Given the description of an element on the screen output the (x, y) to click on. 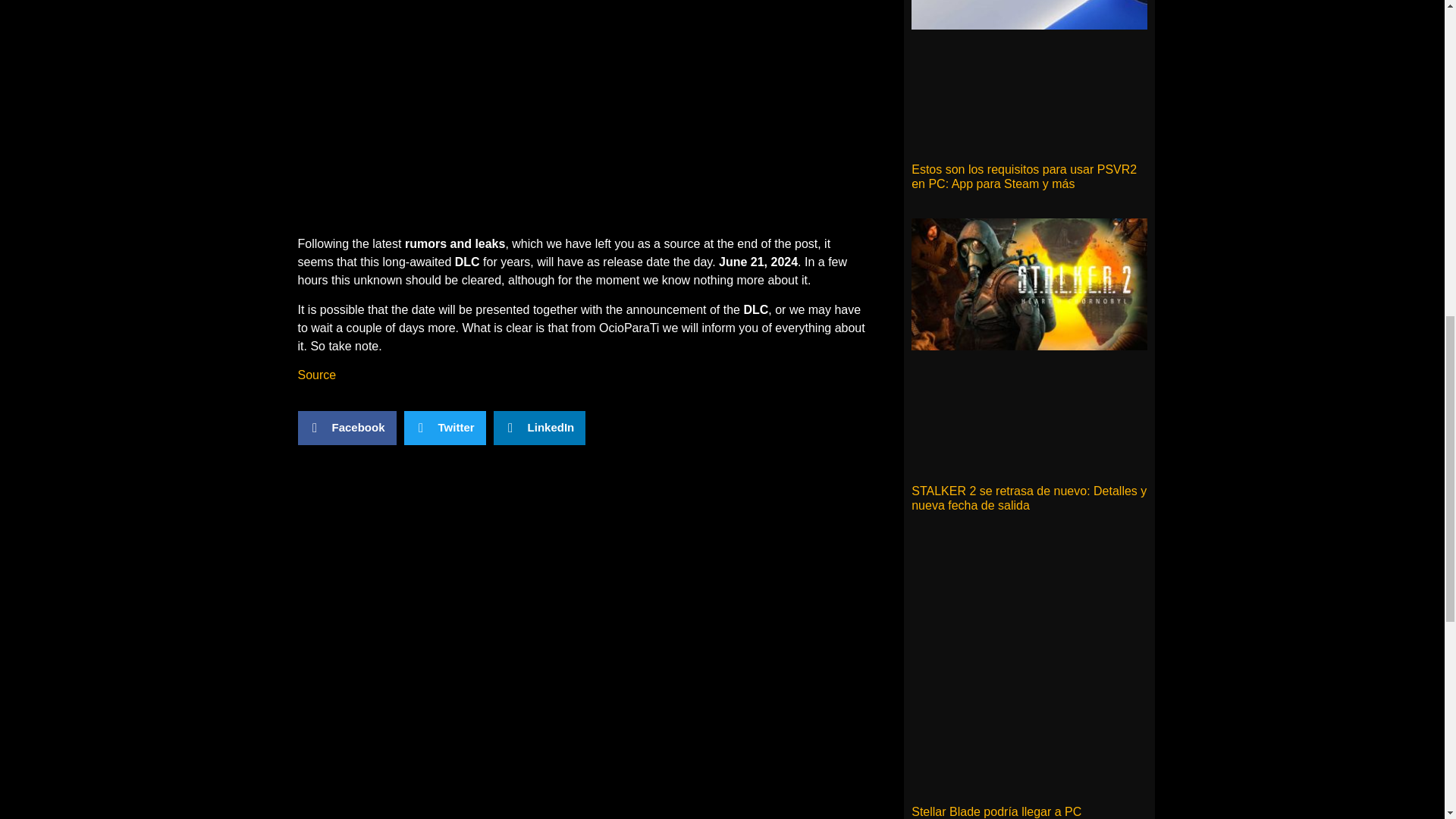
Source (316, 374)
